Given the description of an element on the screen output the (x, y) to click on. 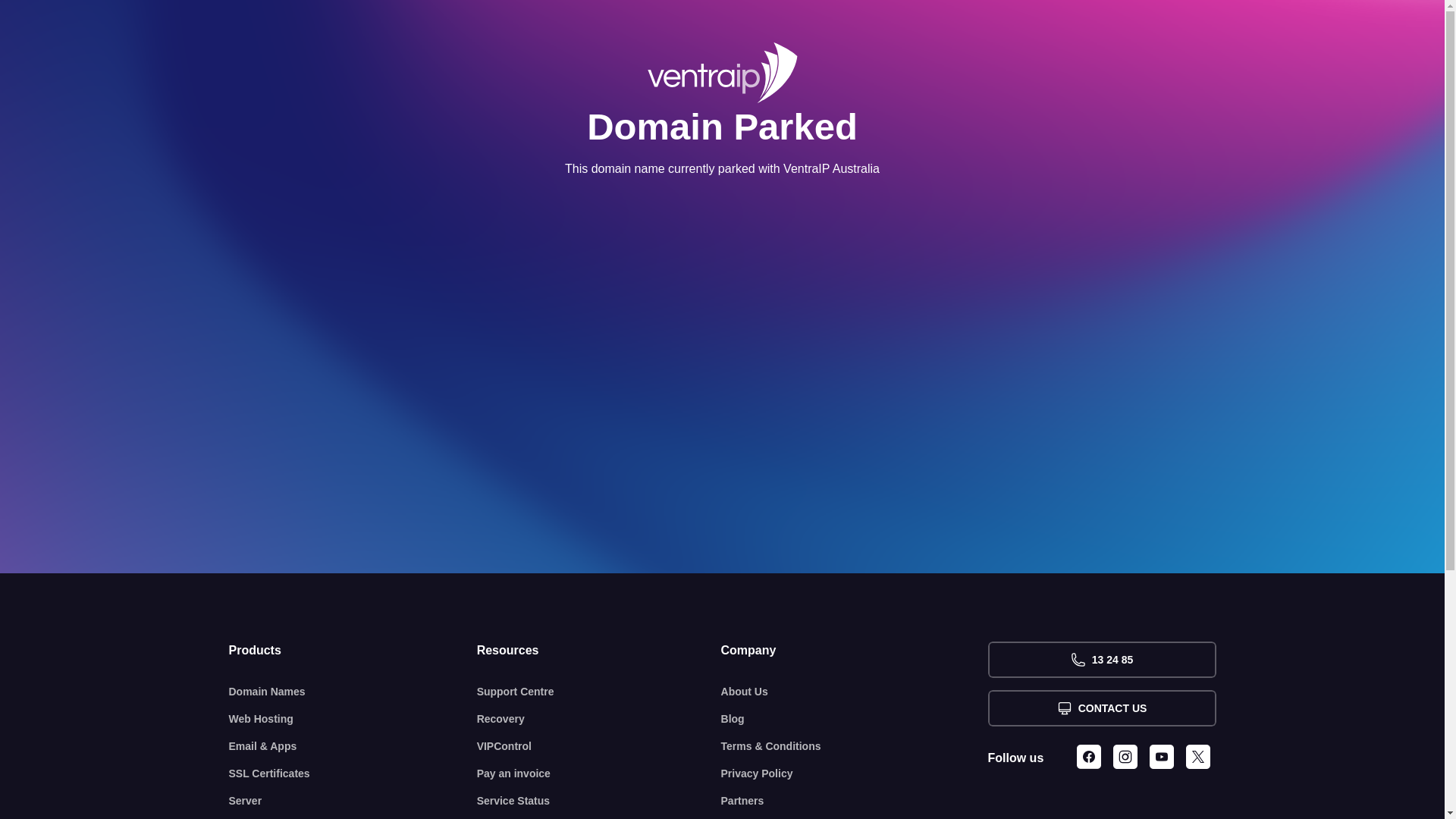
13 24 85 Element type: text (1101, 659)
Web Hosting Element type: text (352, 718)
About Us Element type: text (854, 691)
VIPControl Element type: text (598, 745)
Service Status Element type: text (598, 800)
Email & Apps Element type: text (352, 745)
SSL Certificates Element type: text (352, 773)
Pay an invoice Element type: text (598, 773)
Terms & Conditions Element type: text (854, 745)
Partners Element type: text (854, 800)
Server Element type: text (352, 800)
Recovery Element type: text (598, 718)
Support Centre Element type: text (598, 691)
CONTACT US Element type: text (1101, 708)
Domain Names Element type: text (352, 691)
Privacy Policy Element type: text (854, 773)
Blog Element type: text (854, 718)
